Given the description of an element on the screen output the (x, y) to click on. 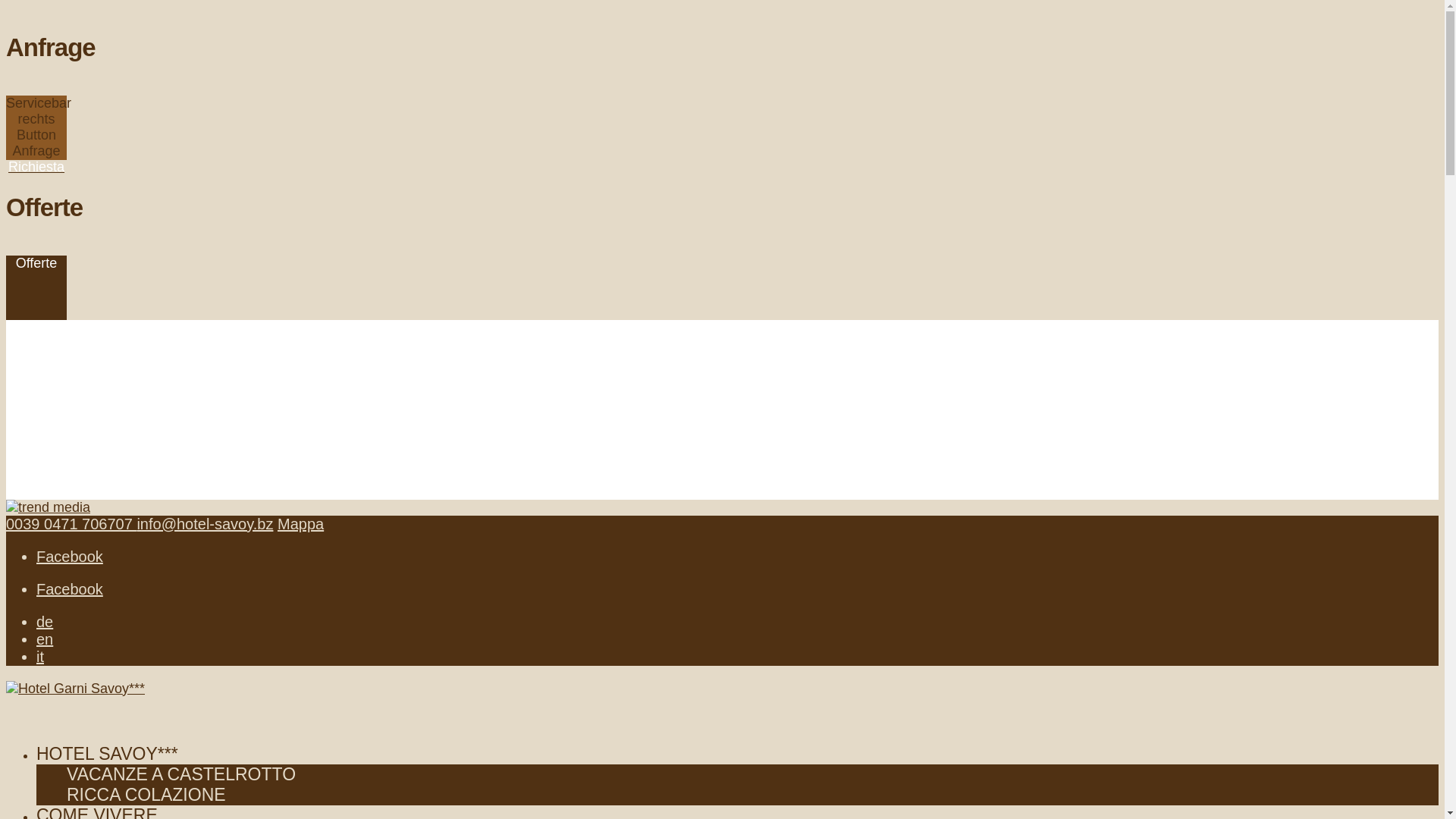
Facebook Element type: text (69, 588)
Offerte Element type: text (36, 261)
Facebook Element type: text (69, 555)
Mappa Element type: text (300, 523)
de Element type: text (44, 620)
en Element type: text (44, 638)
Richiesta Element type: text (36, 166)
RICCA COLAZIONE Element type: text (145, 793)
HOTEL SAVOY*** Element type: text (107, 769)
VACANZE A CASTELROTTO Element type: text (180, 774)
0039 0471 706707 Element type: text (71, 523)
it Element type: text (39, 655)
info@hotel-savoy.bz Element type: text (204, 523)
Alle Angebote Element type: text (61, 429)
